Given the description of an element on the screen output the (x, y) to click on. 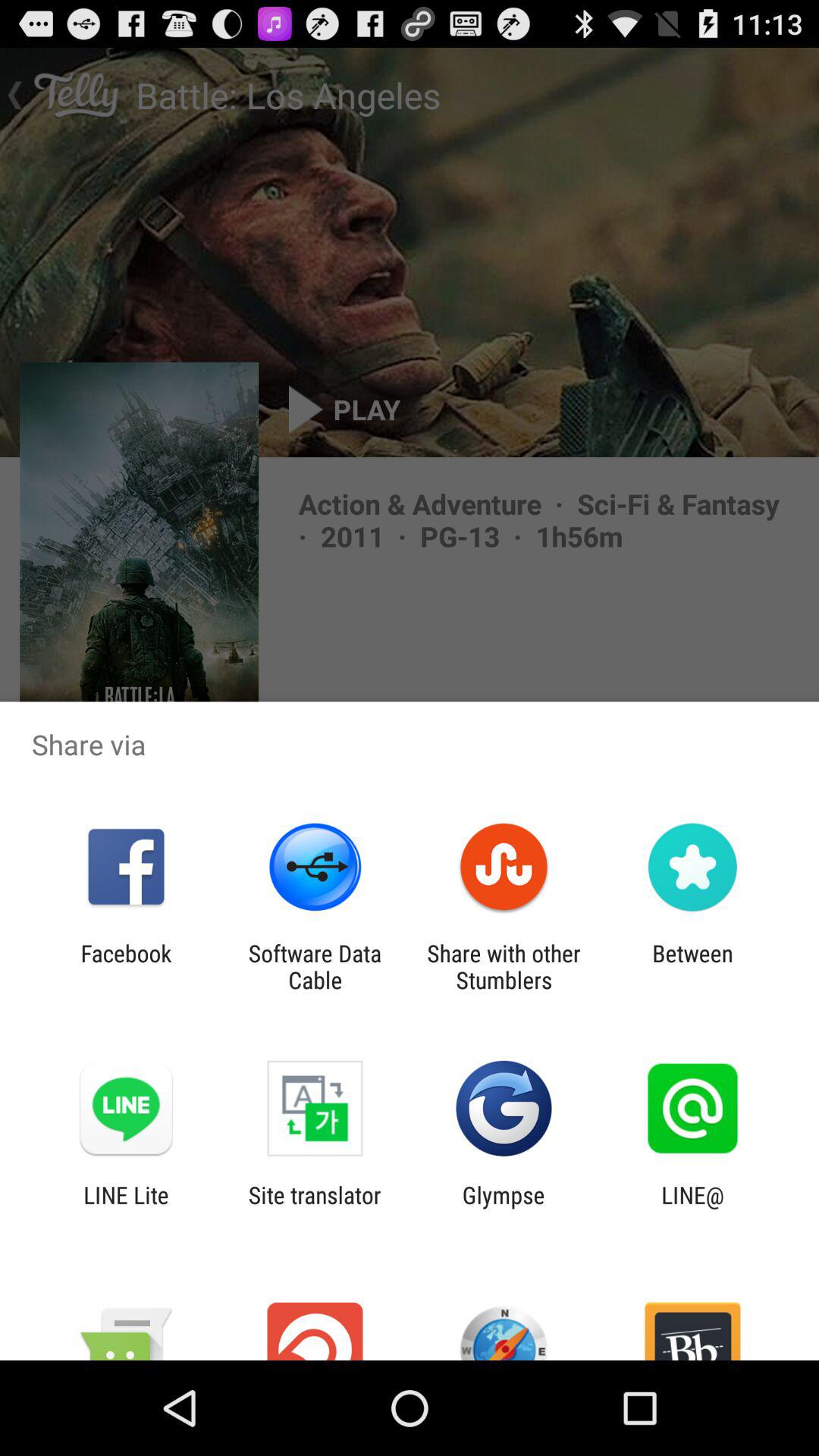
select between item (692, 966)
